Given the description of an element on the screen output the (x, y) to click on. 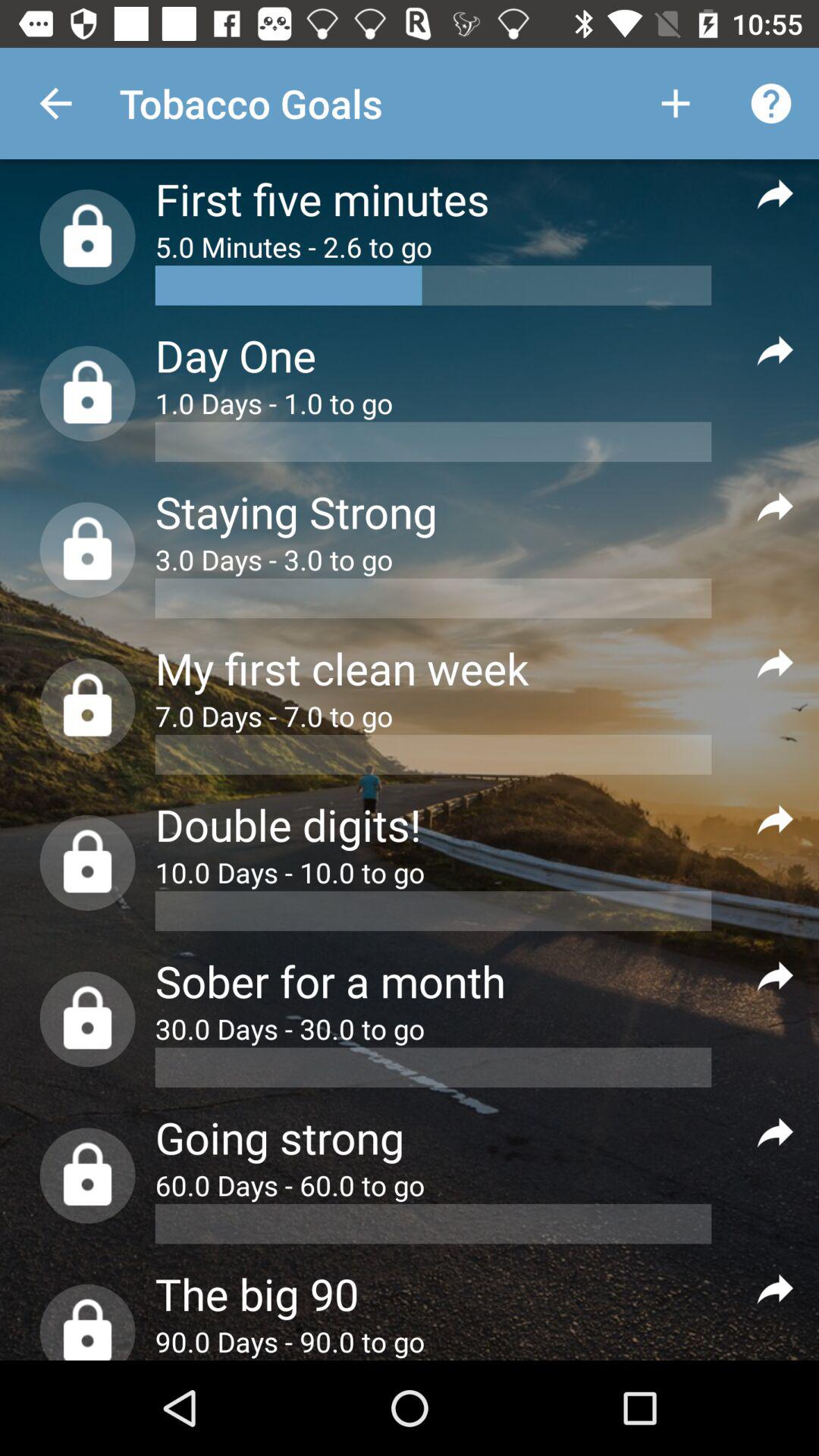
see double digits goal (775, 818)
